Given the description of an element on the screen output the (x, y) to click on. 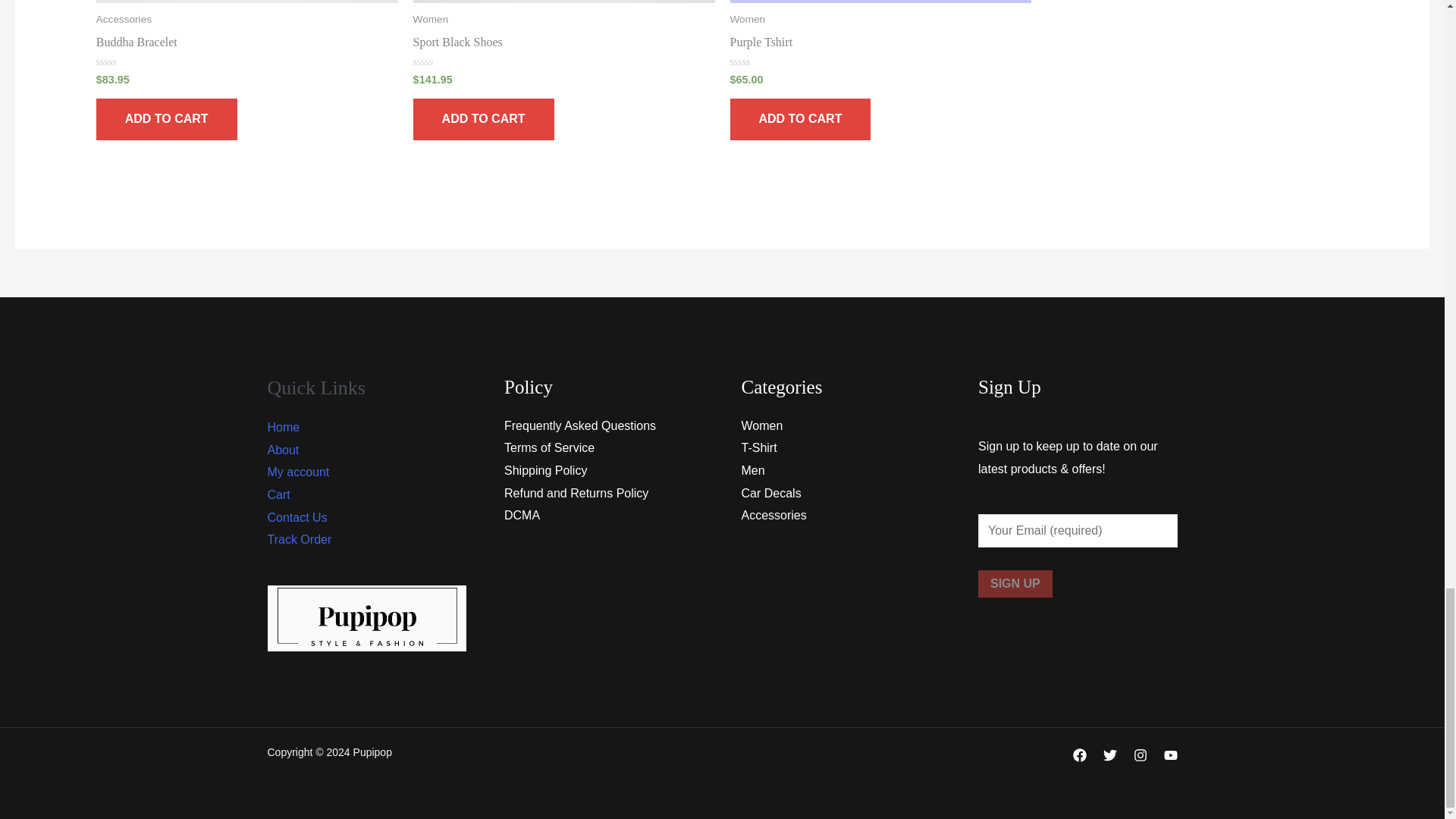
ADD TO CART (483, 119)
ADD TO CART (166, 119)
My account (297, 472)
Purple Tshirt (879, 45)
Home (282, 427)
Cart (277, 494)
ADD TO CART (799, 119)
Sign Up (1015, 583)
About (282, 449)
Buddha Bracelet (246, 45)
Sport Black Shoes (563, 45)
